Given the description of an element on the screen output the (x, y) to click on. 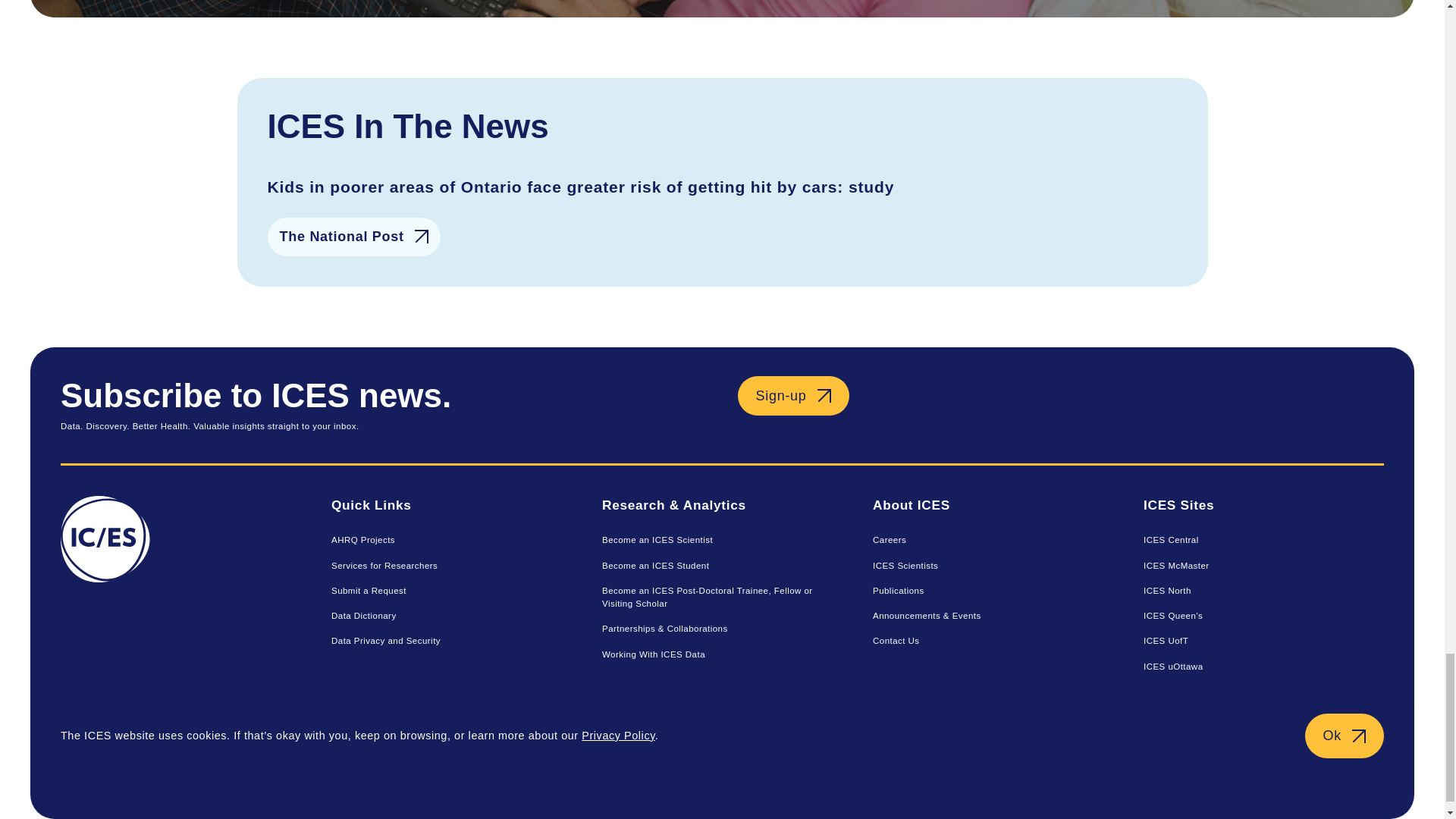
ICES (181, 600)
LinkedIn (1247, 774)
Twitter (1363, 774)
YouTube (1190, 774)
Instagram (1306, 774)
